Given the description of an element on the screen output the (x, y) to click on. 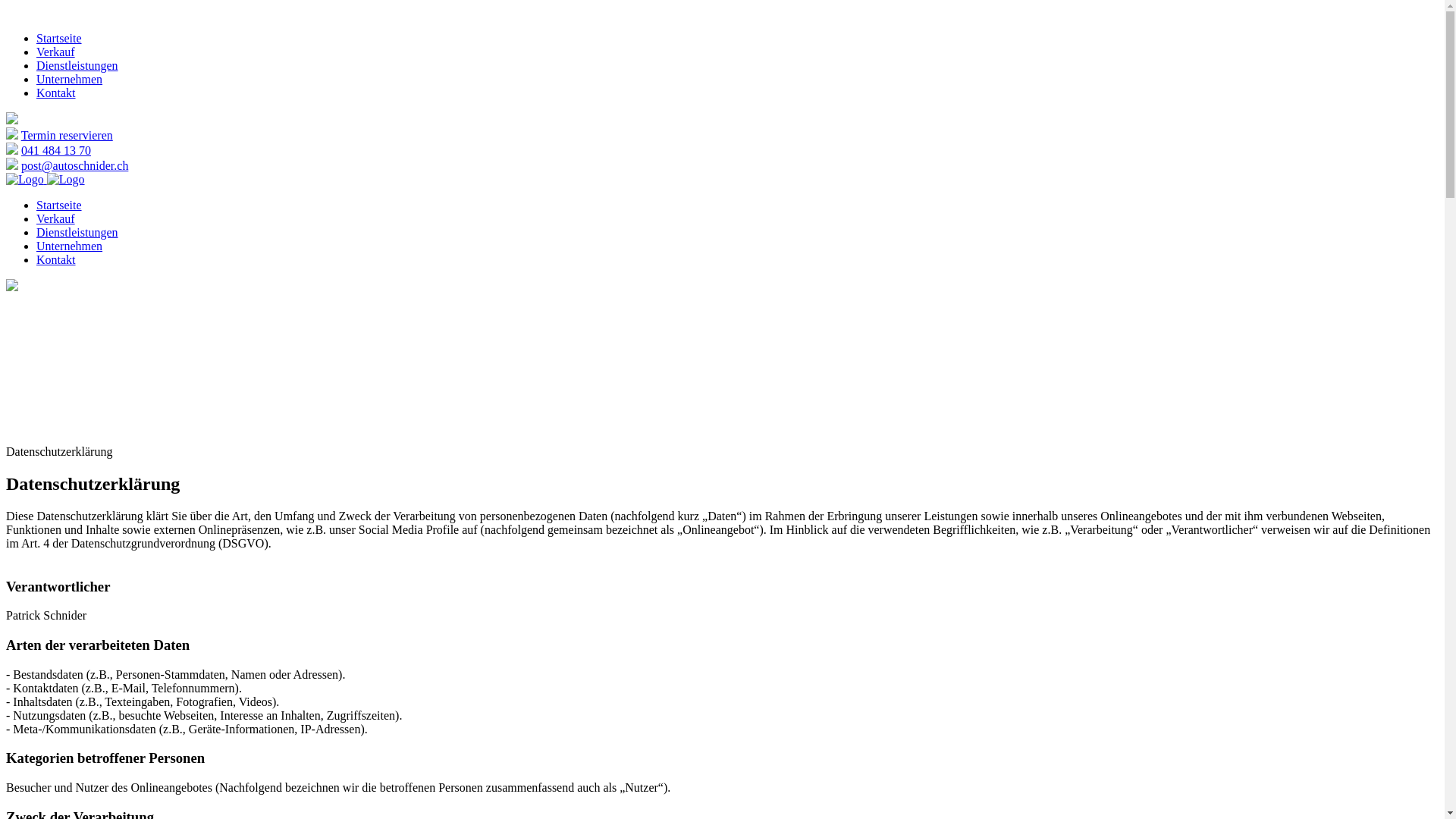
Dienstleistungen Element type: text (77, 231)
Kontakt Element type: text (55, 259)
Unternehmen Element type: text (69, 245)
post@autoschnider.ch Element type: text (74, 165)
Kontakt Element type: text (55, 92)
Startseite Element type: text (58, 37)
Dienstleistungen Element type: text (77, 65)
Verkauf Element type: text (55, 218)
Startseite Element type: text (58, 204)
041 484 13 70 Element type: text (56, 150)
Termin reservieren Element type: text (66, 134)
Unternehmen Element type: text (69, 78)
Verkauf Element type: text (55, 51)
